Given the description of an element on the screen output the (x, y) to click on. 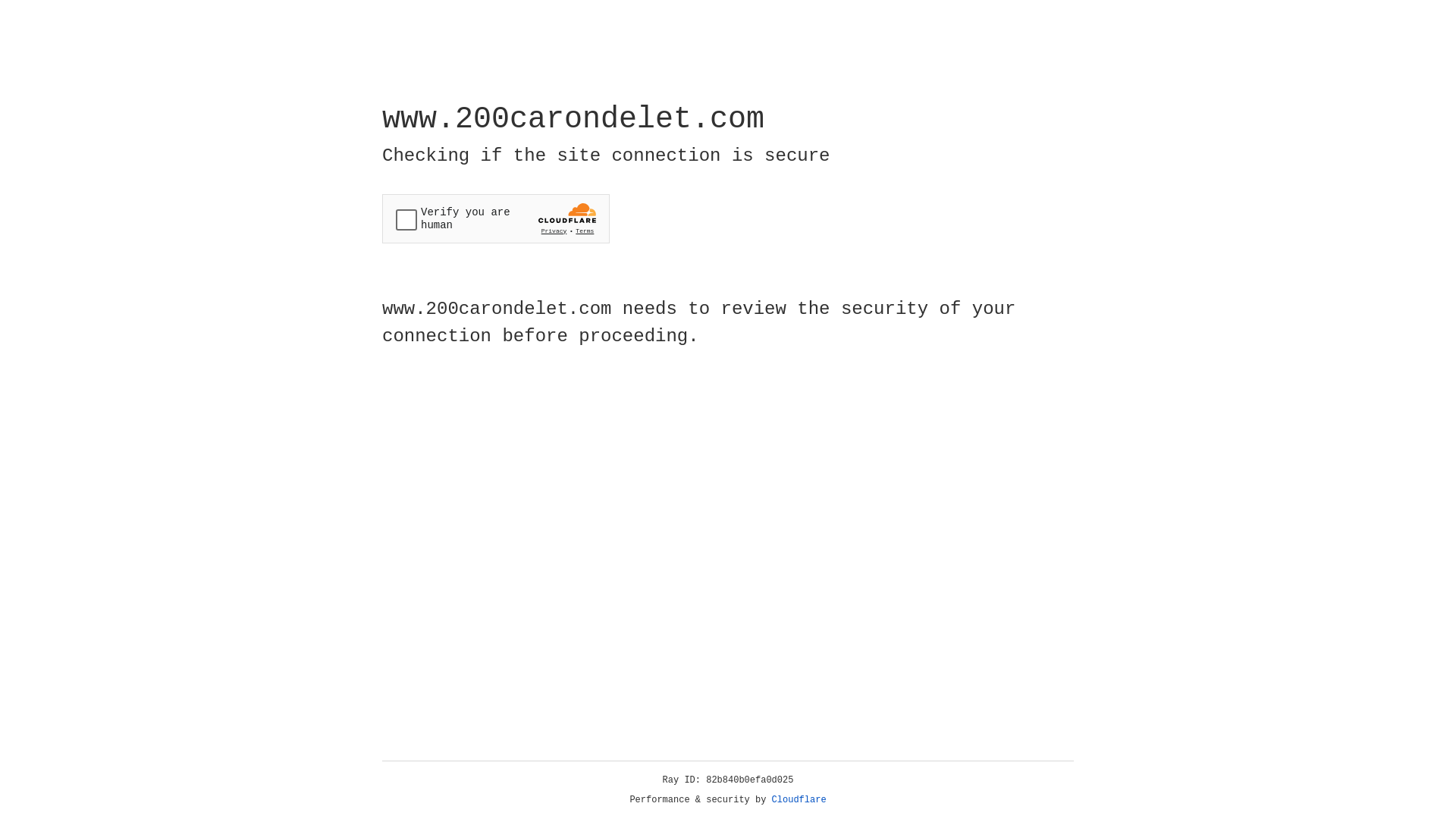
Widget containing a Cloudflare security challenge Element type: hover (495, 218)
Cloudflare Element type: text (798, 799)
